Given the description of an element on the screen output the (x, y) to click on. 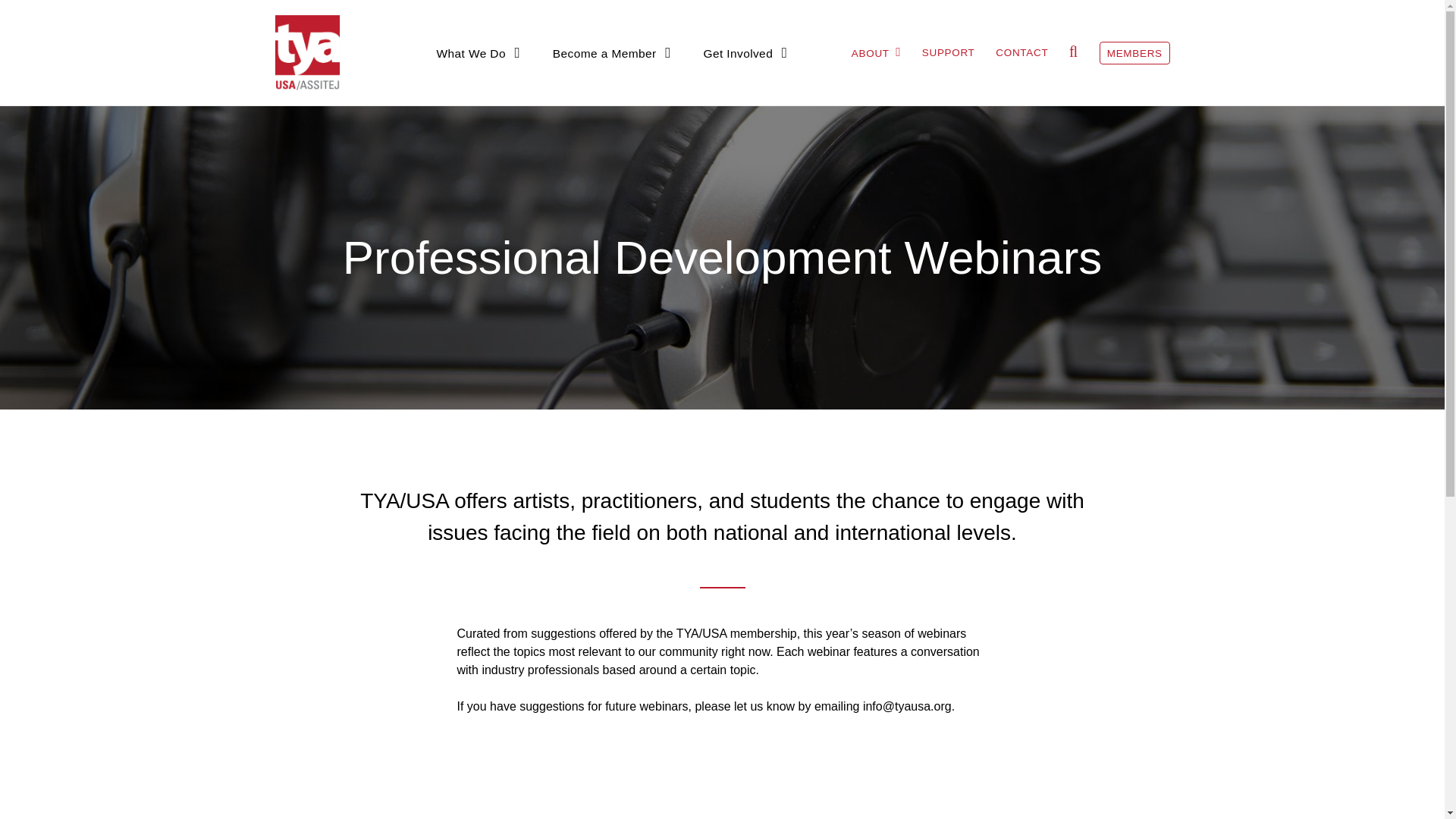
MEMBERS (1134, 53)
Become a Member (612, 52)
Resources (929, 81)
ABOUT (876, 51)
About Membership (652, 81)
Events (505, 81)
SUPPORT (948, 52)
TYA (310, 52)
Get Involved (745, 52)
What We Do (478, 52)
